Given the description of an element on the screen output the (x, y) to click on. 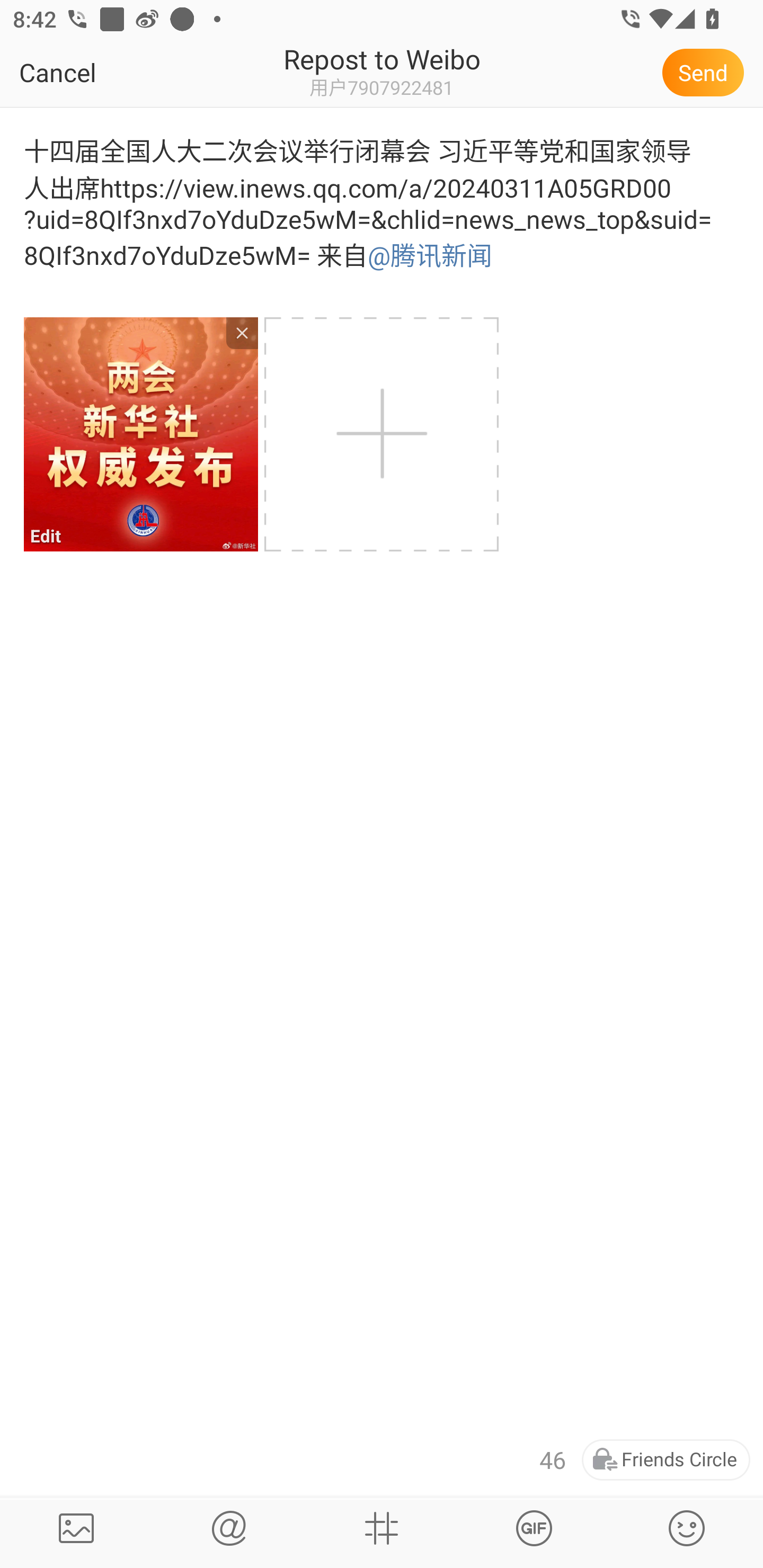
Cancel (99, 71)
Send (706, 71)
Edit (140, 433)
Meyou Friends Circle (665, 1459)
46 Number of words available: (552, 1459)
Pictures Upload (76, 1527)
Search (228, 1527)
Topics, movies, books, songs, places, stocks (381, 1527)
Topics, movies, books, songs, places, stocks (533, 1527)
请插入表情 (686, 1527)
